Given the description of an element on the screen output the (x, y) to click on. 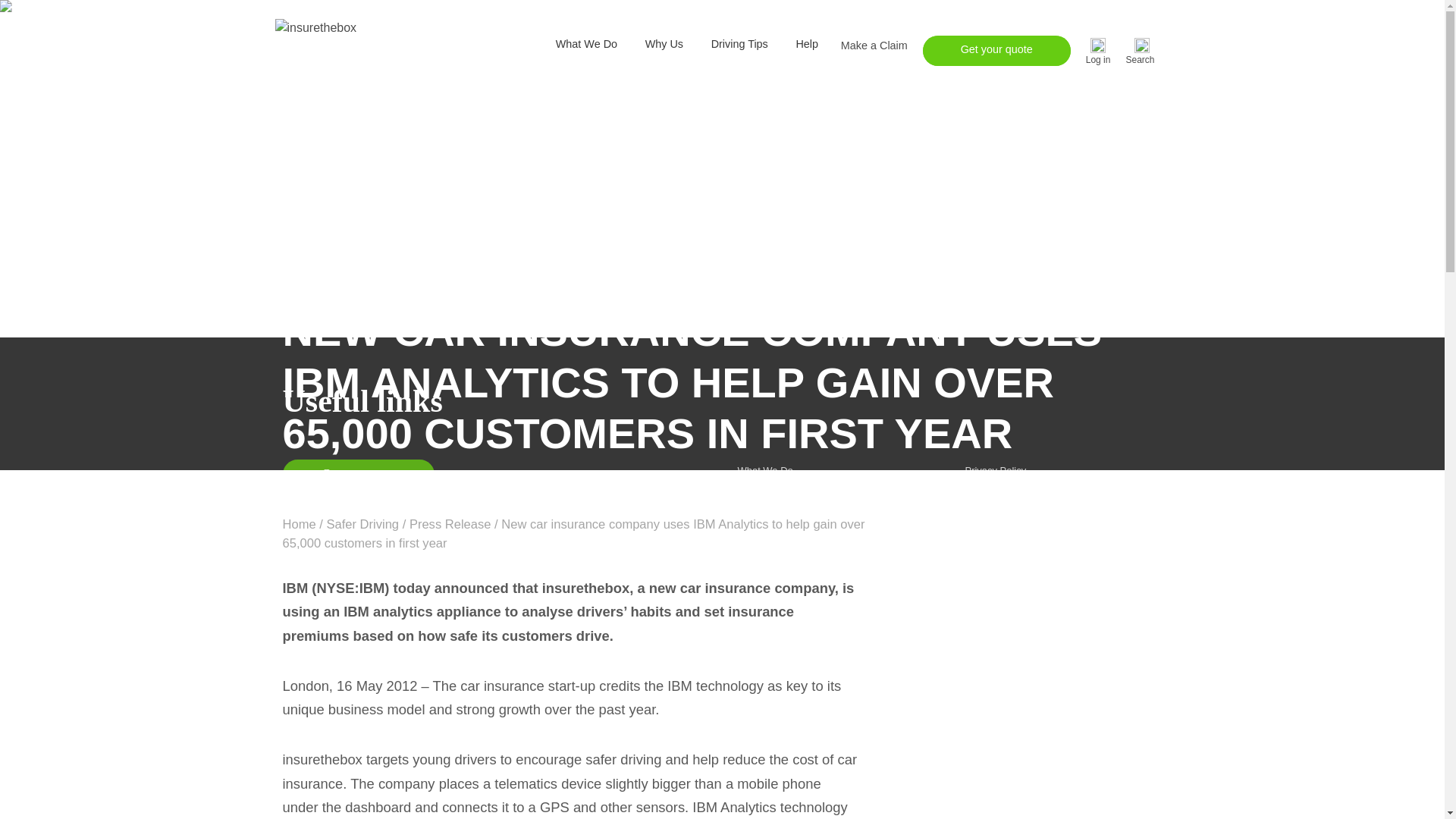
Privacy Policy (994, 470)
Make a claim with insurethebox (874, 45)
Making a Claim (770, 541)
Get your quote (996, 51)
Home (298, 523)
Homepage (298, 523)
Driving Tips (739, 43)
Facebook (750, 712)
Safer Driving (362, 523)
Press Release (450, 523)
Modern Slavery Act (1006, 577)
Twitter (796, 712)
Legal Information and Documents (1037, 541)
Help (807, 43)
